Given the description of an element on the screen output the (x, y) to click on. 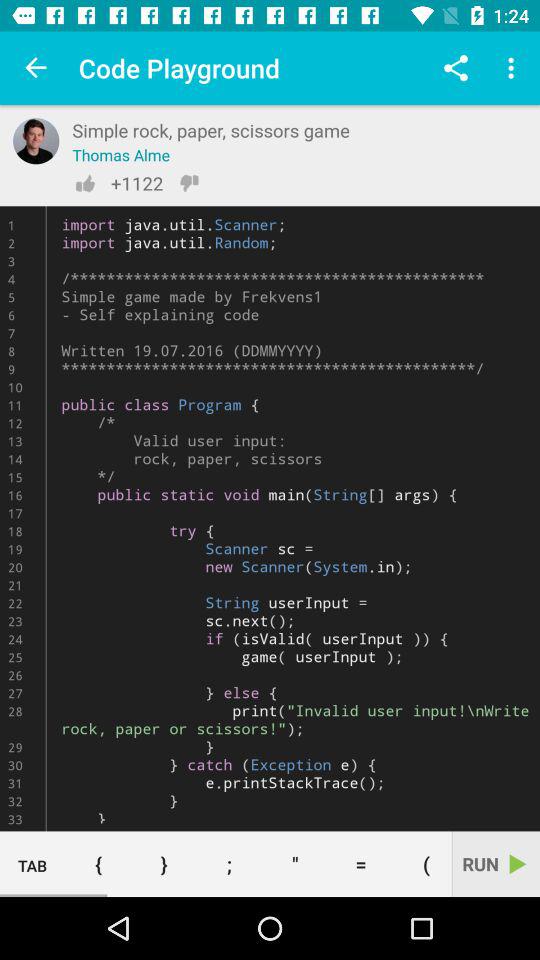
turn off tab (32, 864)
